Given the description of an element on the screen output the (x, y) to click on. 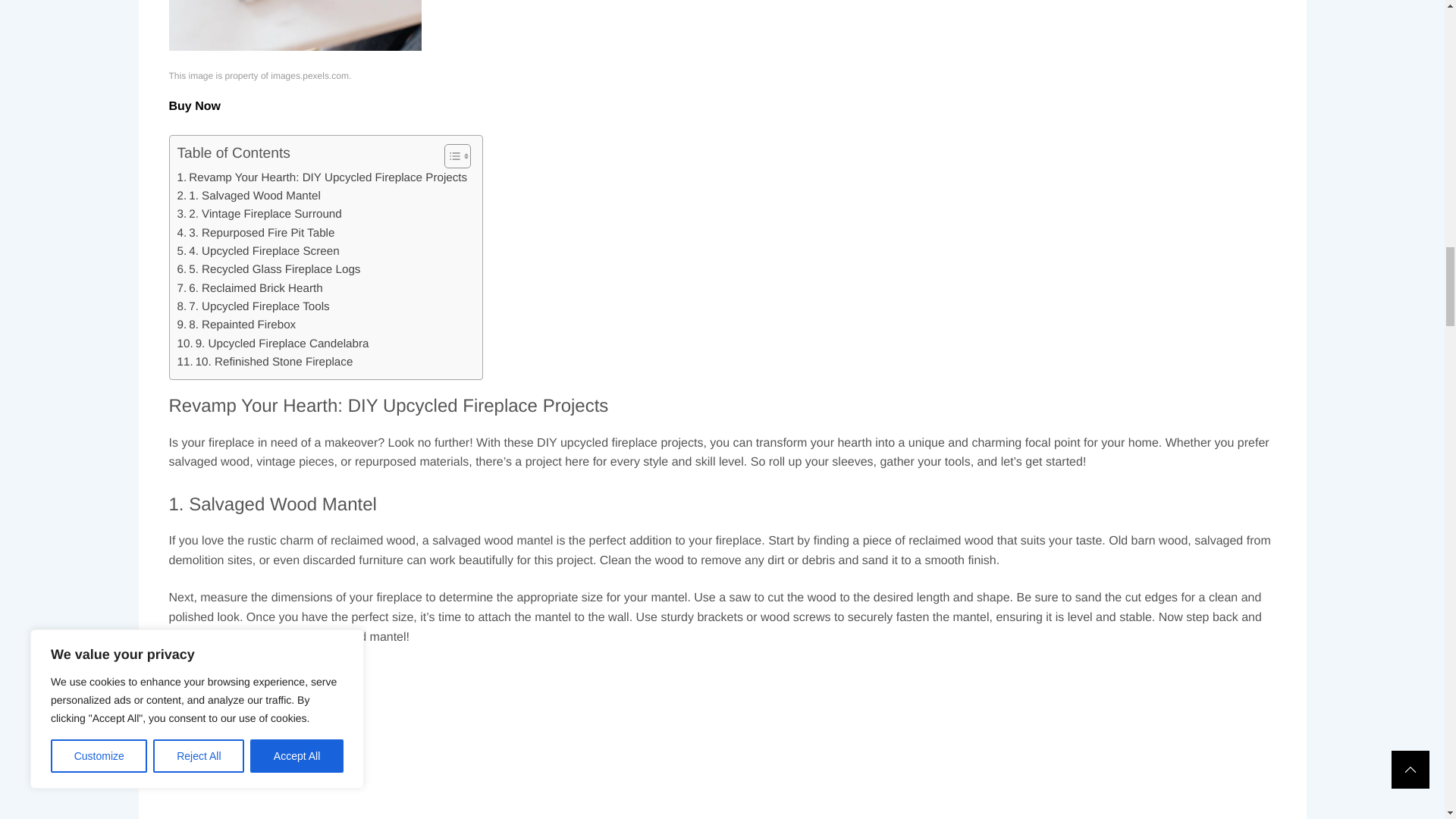
Learn more about the Buy Now here. (193, 69)
6. Reclaimed Brick Hearth (250, 252)
Buy Now (193, 69)
10. Refinished Stone Fireplace (265, 325)
4. Upcycled Fireplace Screen (258, 215)
1. Salvaged Wood Mantel (248, 159)
7. Upcycled Fireplace Tools (253, 270)
7. Upcycled Fireplace Tools (253, 270)
8. Repainted Firebox (237, 289)
5. Recycled Glass Fireplace Logs (269, 233)
Revamp Your Hearth: DIY Upcycled Fireplace Projects (294, 7)
2. Vintage Fireplace Surround (259, 177)
5. Recycled Glass Fireplace Logs (269, 233)
4. Upcycled Fireplace Screen (258, 215)
3. Repurposed Fire Pit Table (255, 197)
